Given the description of an element on the screen output the (x, y) to click on. 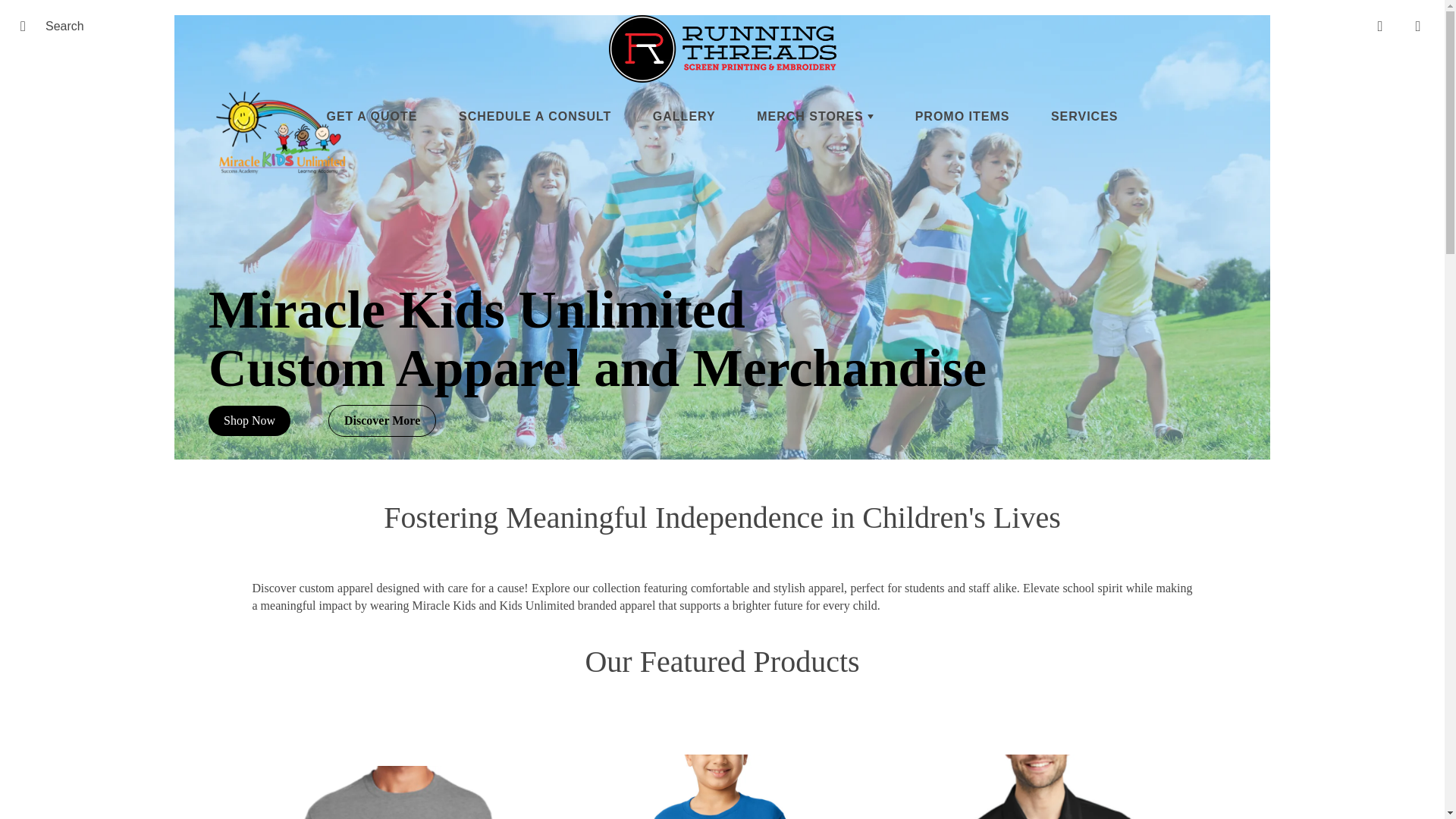
My account (1379, 26)
You have 0 items in your cart (1417, 26)
PROMO ITEMS (962, 116)
SERVICES (1084, 116)
GALLERY (684, 116)
SCHEDULE A CONSULT (534, 116)
Search (28, 26)
GET A QUOTE (371, 116)
MERCH STORES (815, 116)
